Given the description of an element on the screen output the (x, y) to click on. 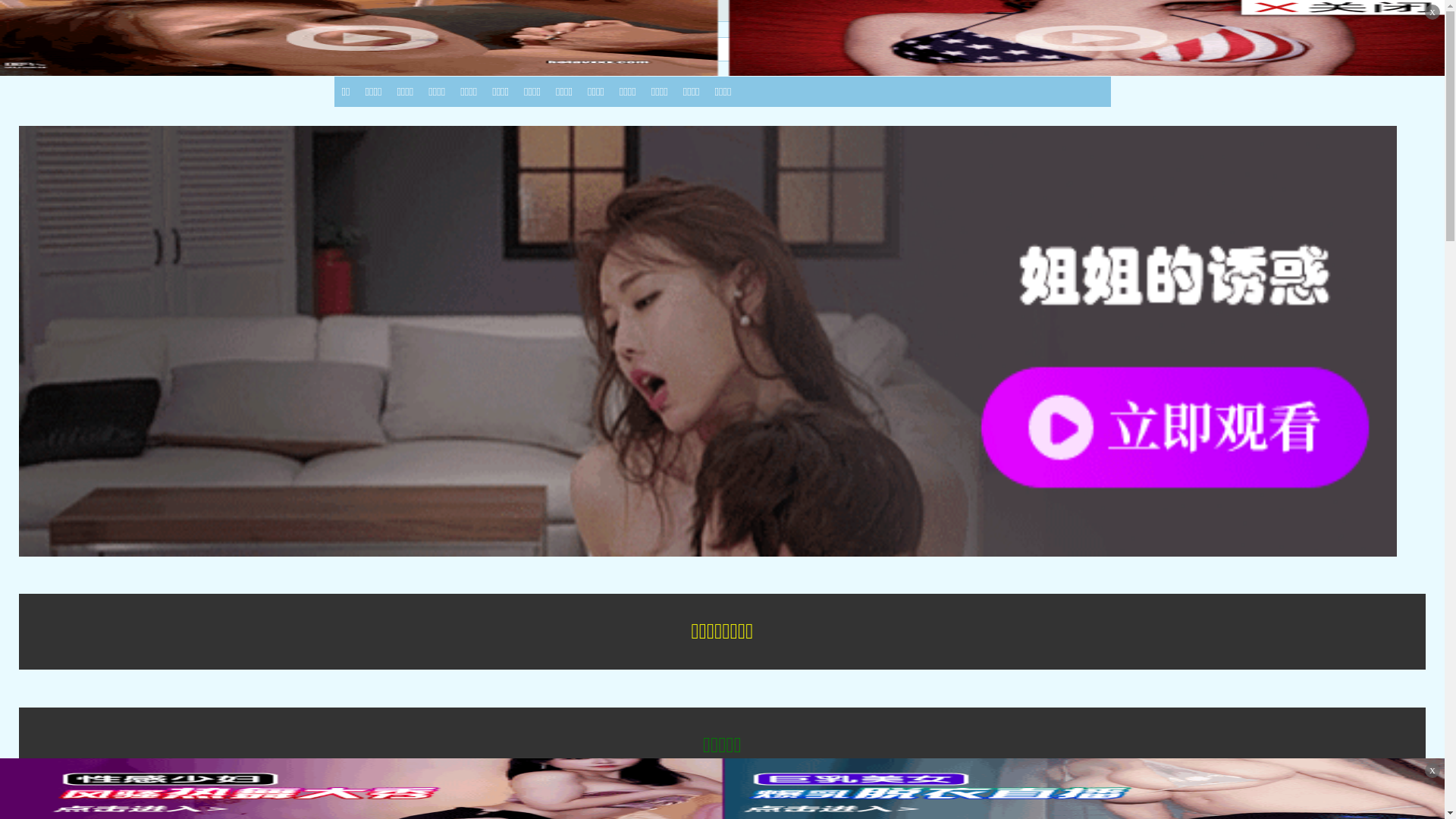
  Element type: text (1051, 10)
X Element type: text (1432, 770)
X Element type: text (1432, 11)
